Given the description of an element on the screen output the (x, y) to click on. 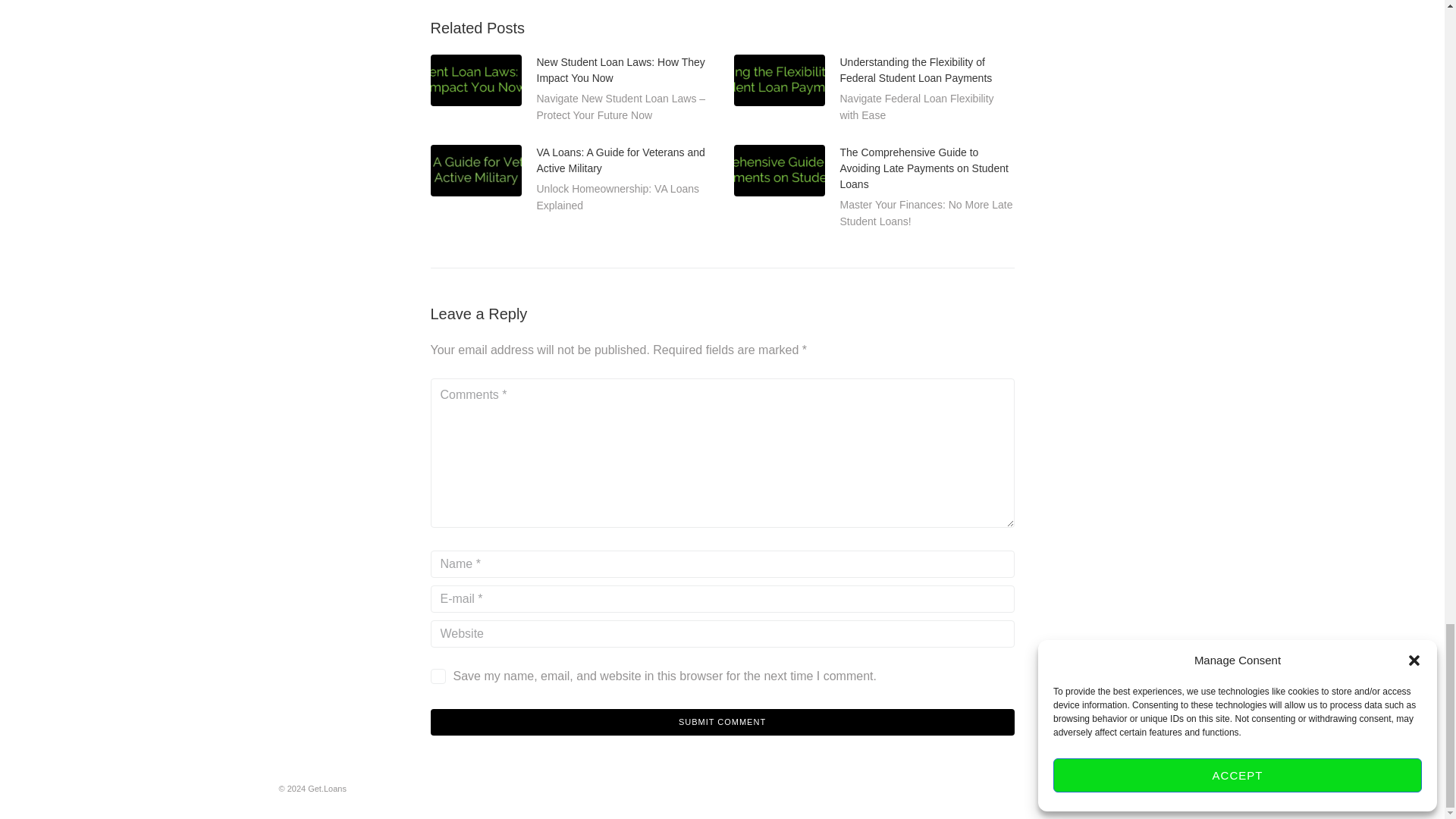
Submit Comment (722, 722)
